Given the description of an element on the screen output the (x, y) to click on. 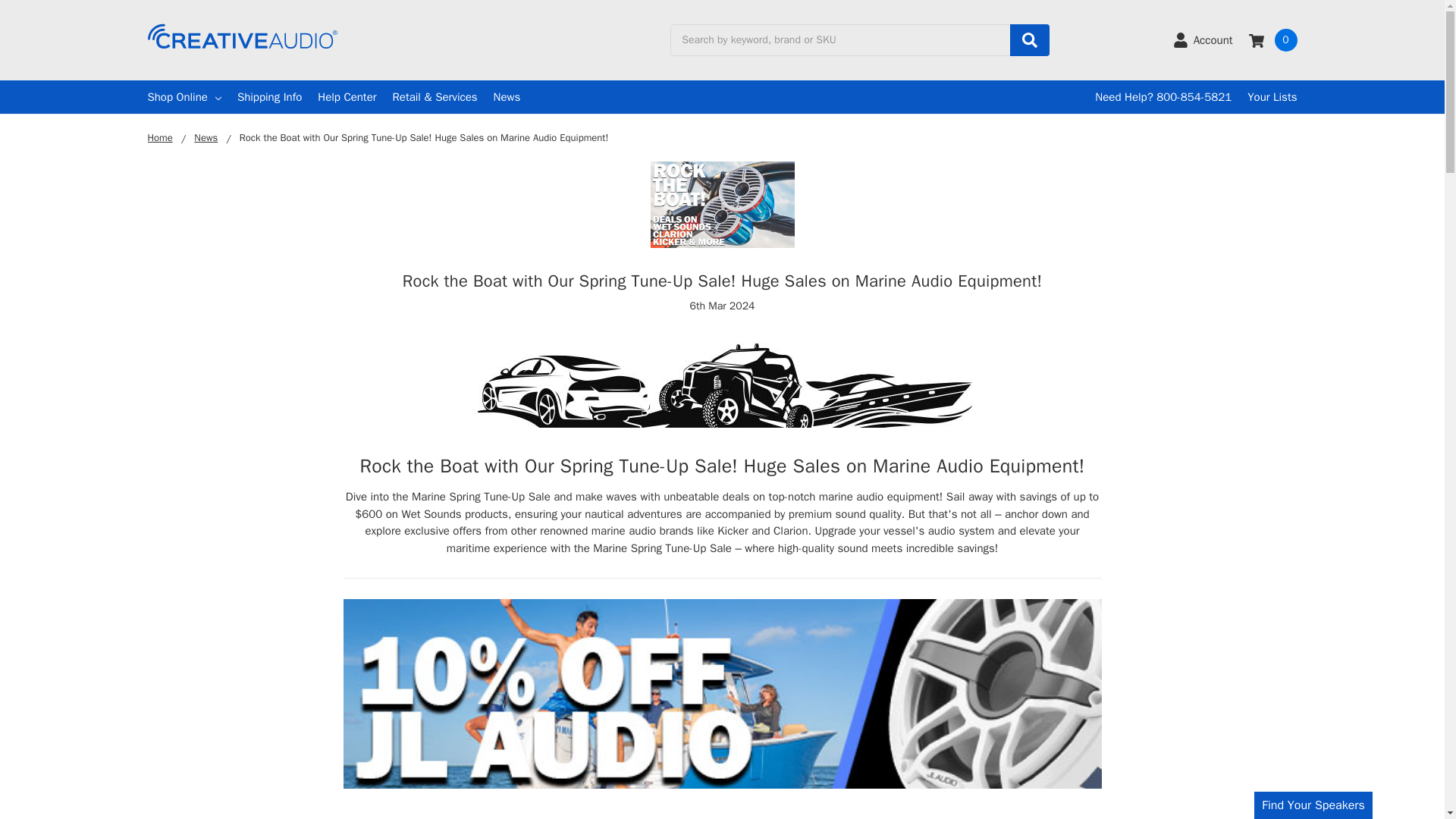
Shop Online (184, 96)
Account (1203, 39)
Creative Audio (241, 35)
0 (1273, 39)
